Given the description of an element on the screen output the (x, y) to click on. 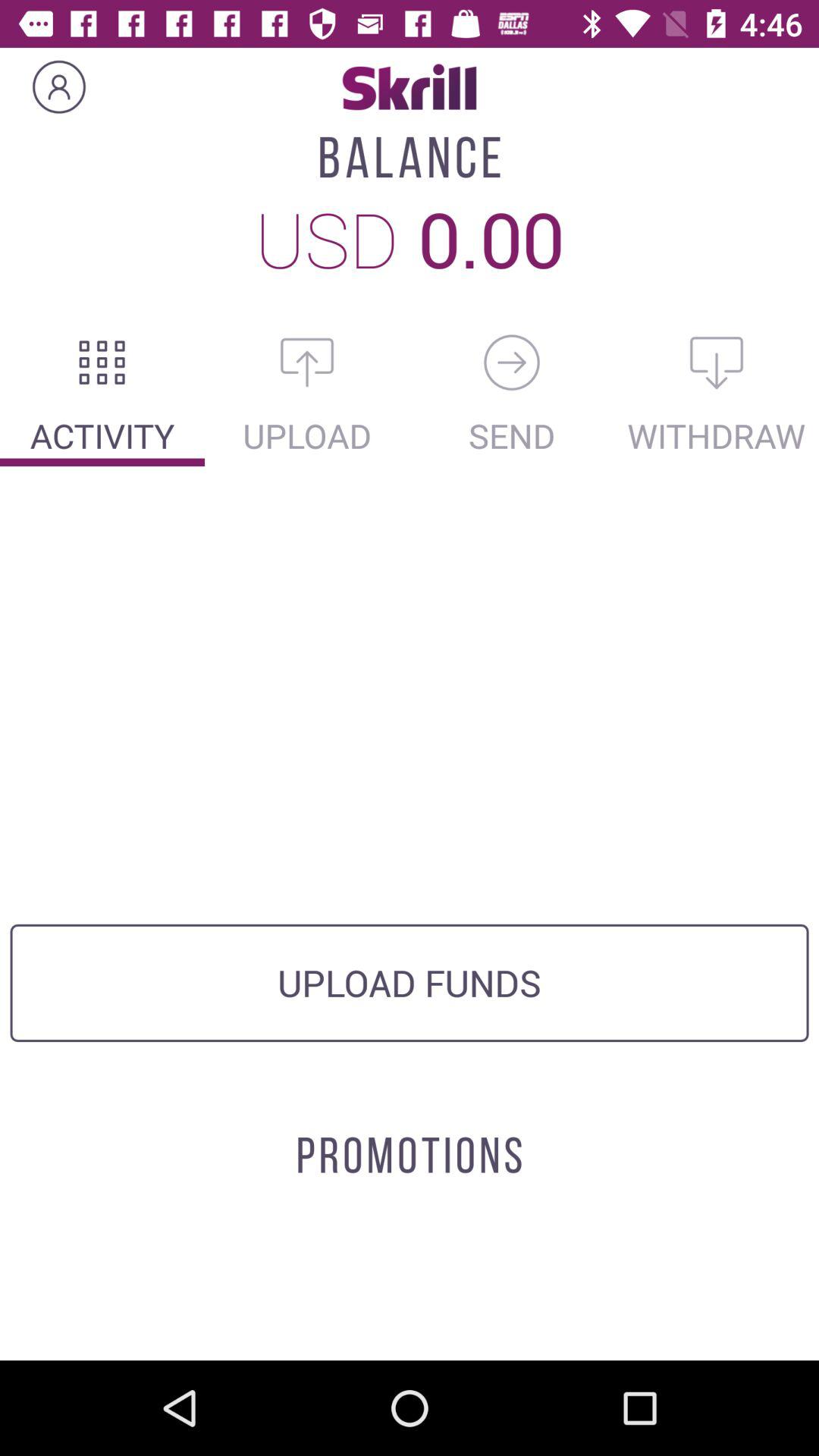
click to upload (306, 362)
